Given the description of an element on the screen output the (x, y) to click on. 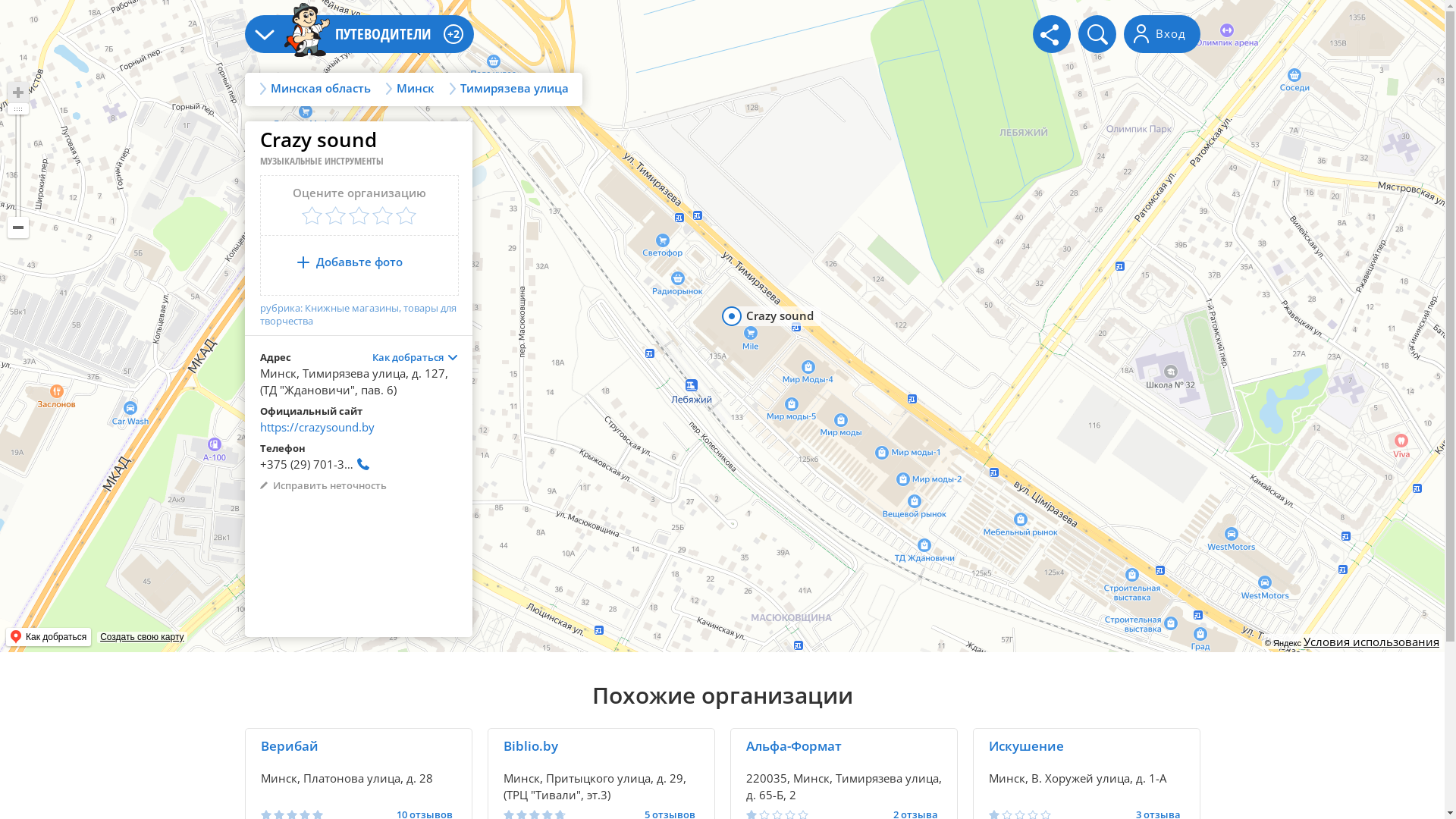
+375 (29) 701-31-... Element type: text (316, 467)
